Given the description of an element on the screen output the (x, y) to click on. 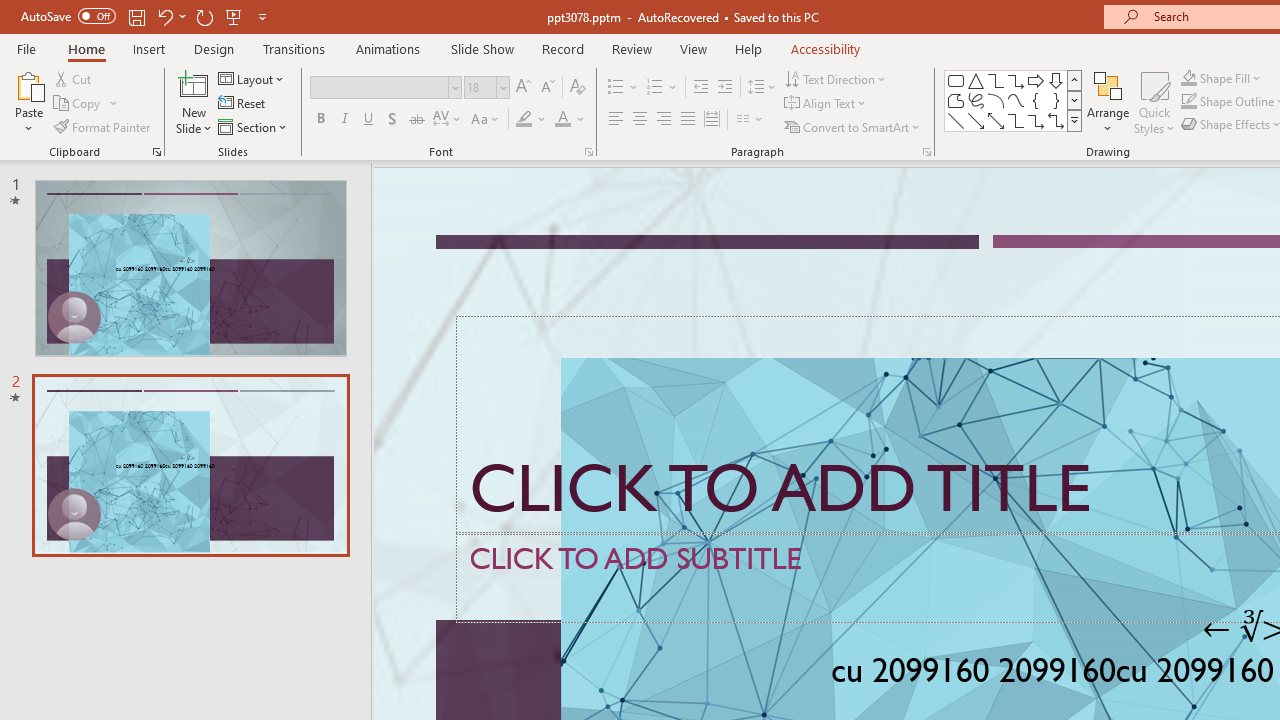
Shape Outline Green, Accent 1 (1188, 101)
